Given the description of an element on the screen output the (x, y) to click on. 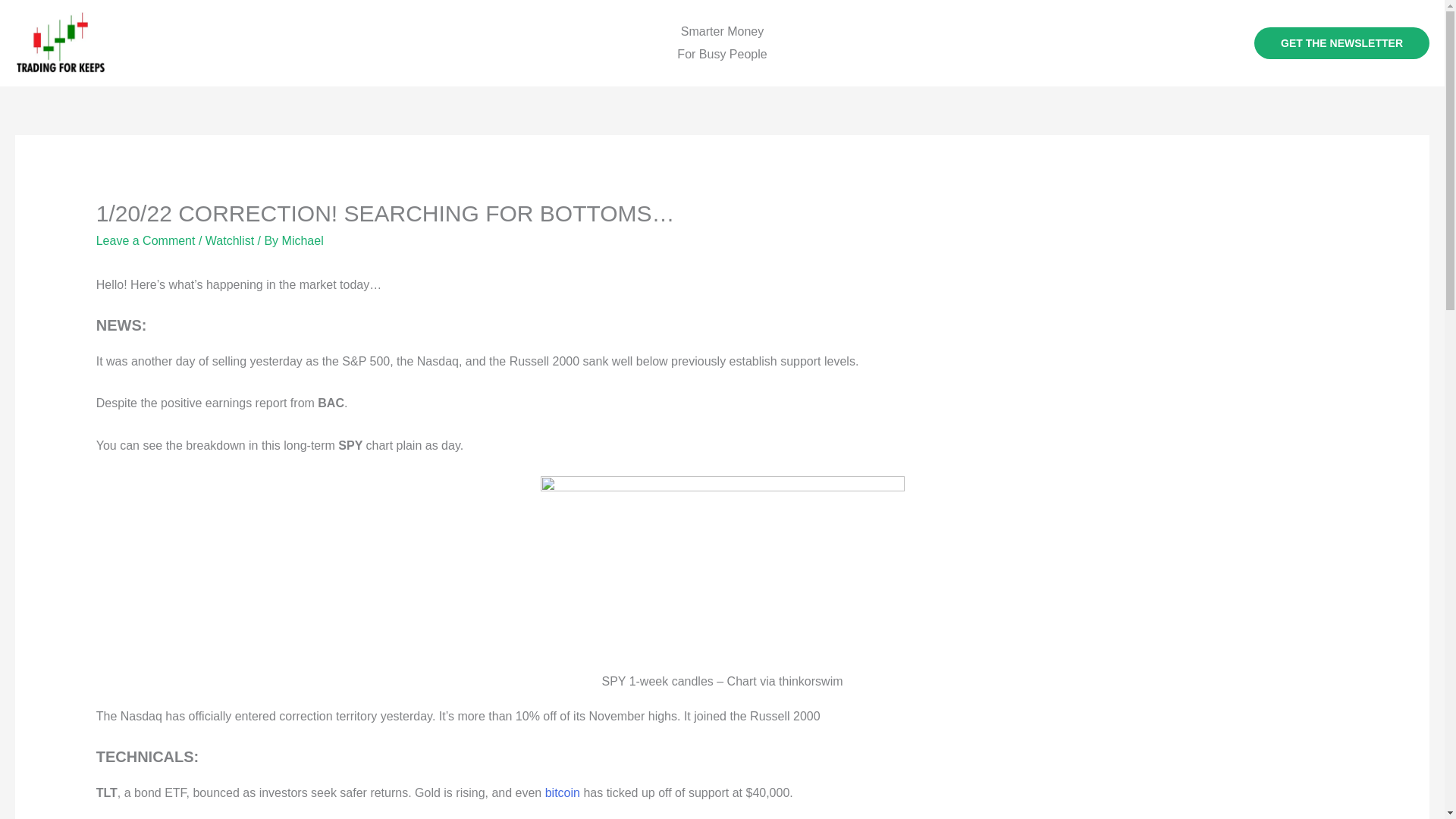
View all posts by Michael (302, 240)
Leave a Comment (145, 240)
GET THE NEWSLETTER (1341, 42)
Watchlist (229, 240)
Michael (302, 240)
bitcoin (561, 792)
